Given the description of an element on the screen output the (x, y) to click on. 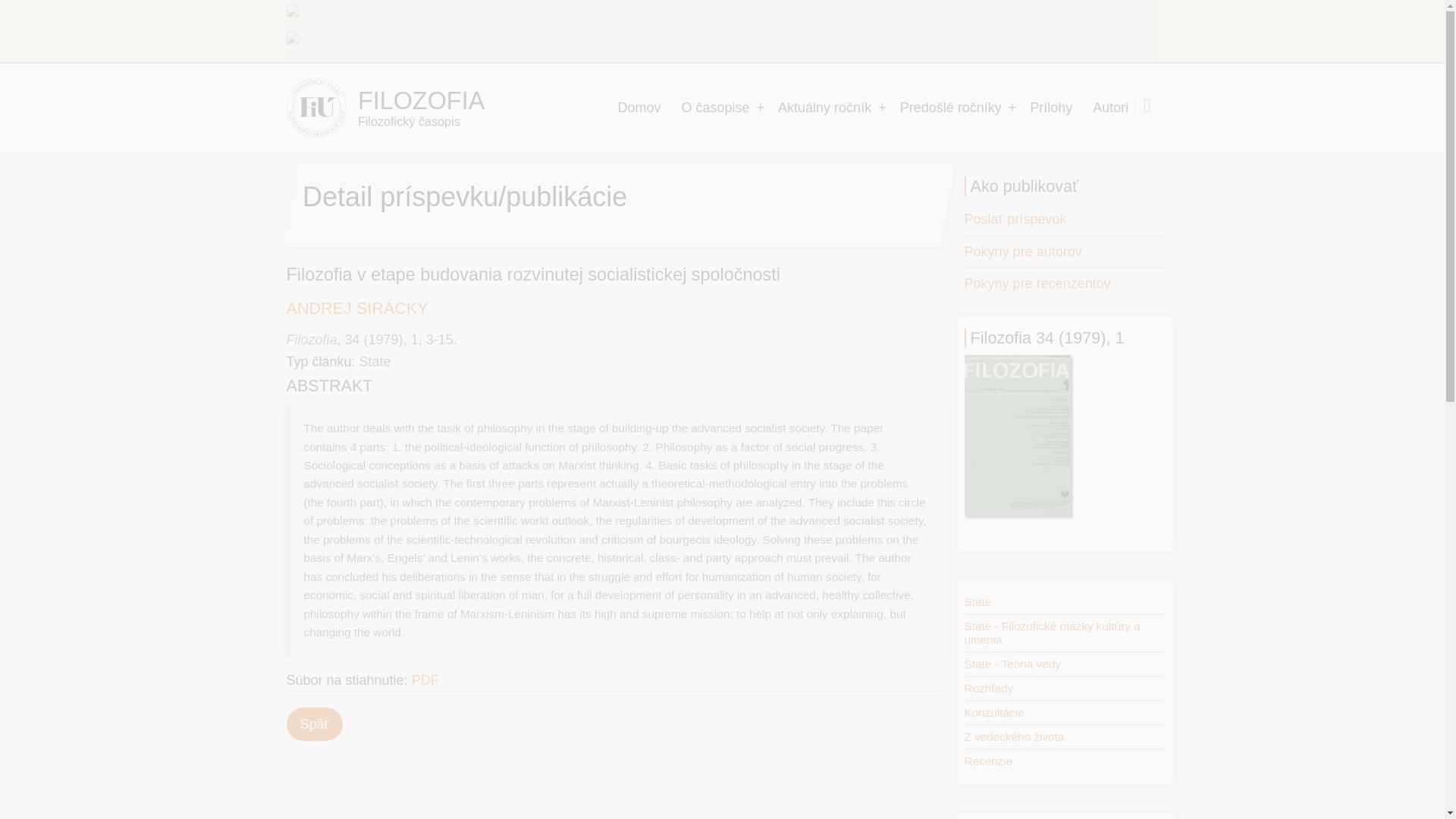
English (295, 38)
Autori (1110, 108)
FILOZOFIA (421, 100)
Domov (639, 108)
Domov (316, 107)
Domov (421, 100)
